Given the description of an element on the screen output the (x, y) to click on. 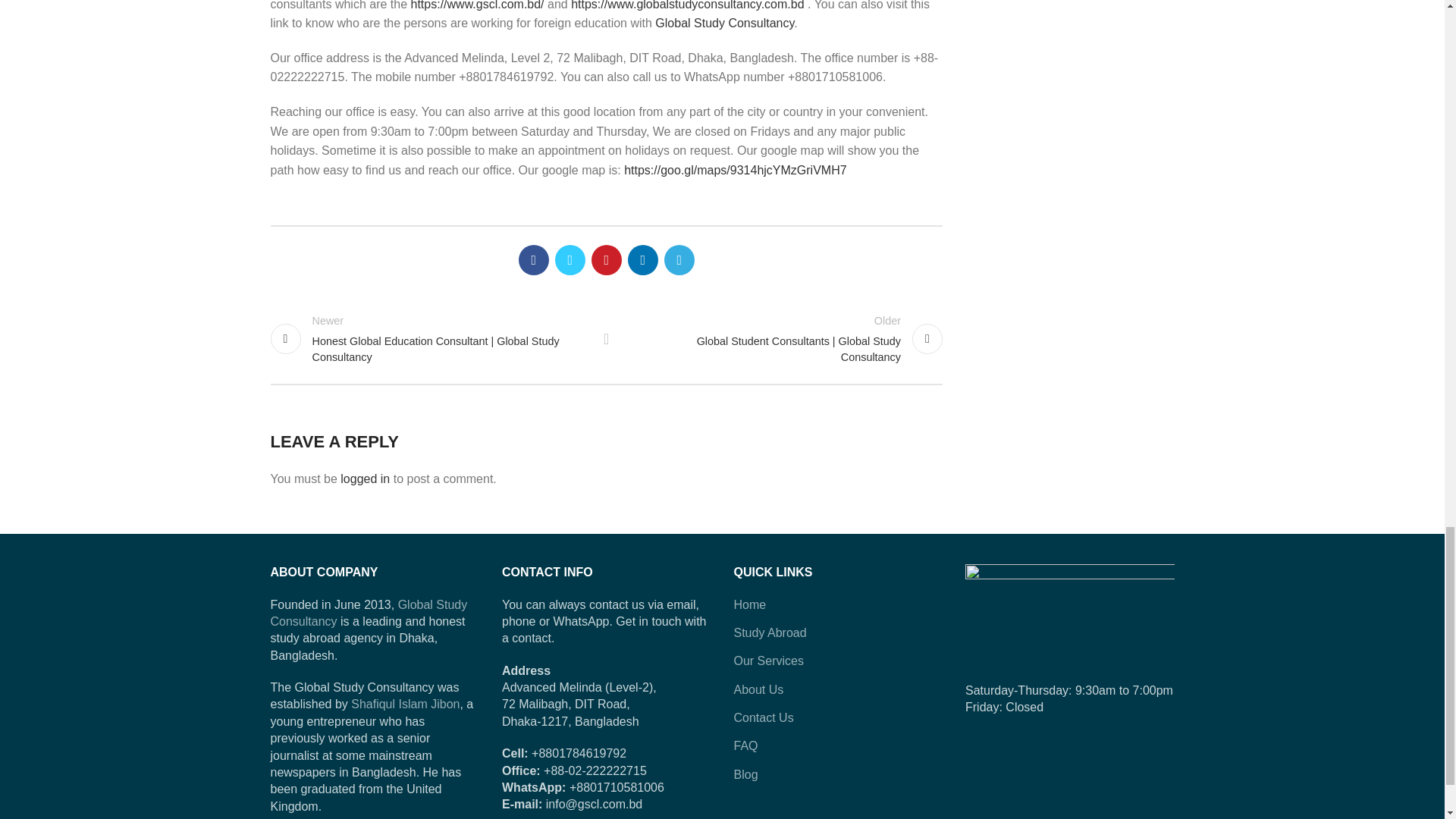
Global Study Consultancy (724, 22)
Back to list (606, 338)
logged in (365, 478)
